Given the description of an element on the screen output the (x, y) to click on. 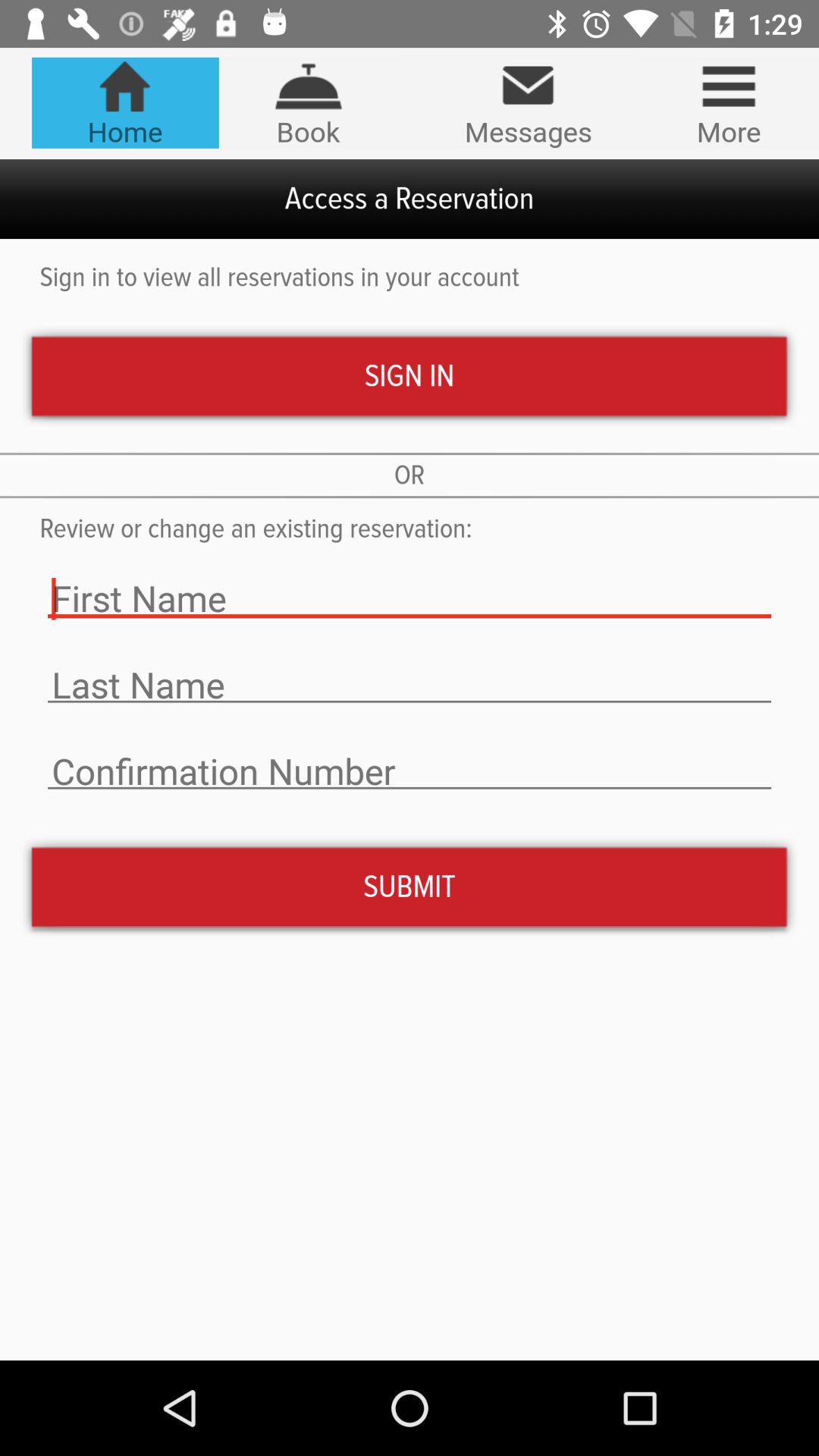
select the item above submit icon (409, 771)
